Given the description of an element on the screen output the (x, y) to click on. 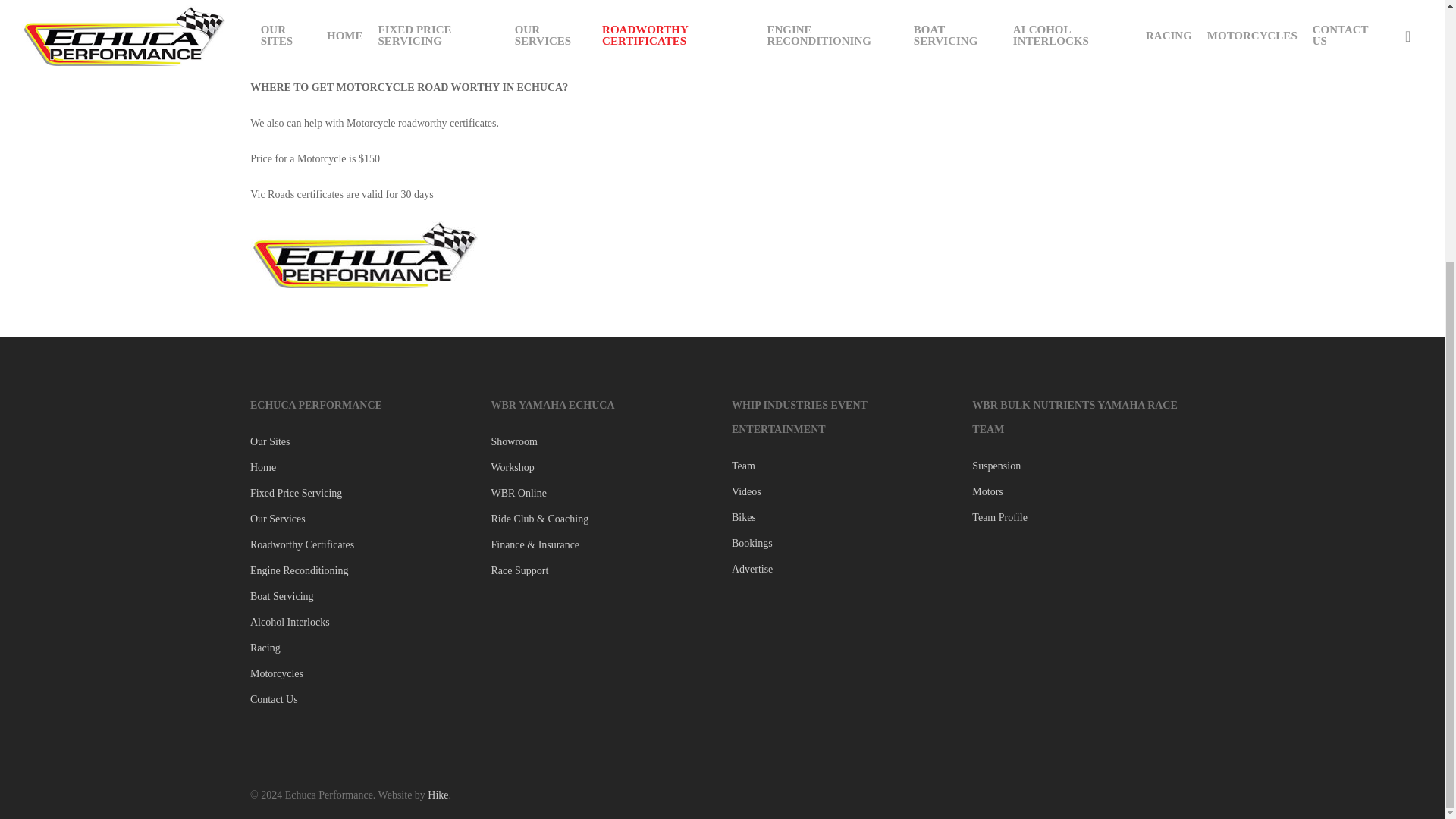
Our Sites (360, 442)
Workshop (601, 467)
Race Support (601, 570)
Home (360, 467)
Showroom (601, 442)
Engine Reconditioning (360, 570)
Contact Us (360, 700)
Team (842, 465)
Alcohol Interlocks (360, 622)
Boat Servicing (360, 596)
Advertise (842, 569)
Motors (1082, 492)
Motorcycles (360, 673)
Racing (360, 648)
Suspension (1082, 465)
